Given the description of an element on the screen output the (x, y) to click on. 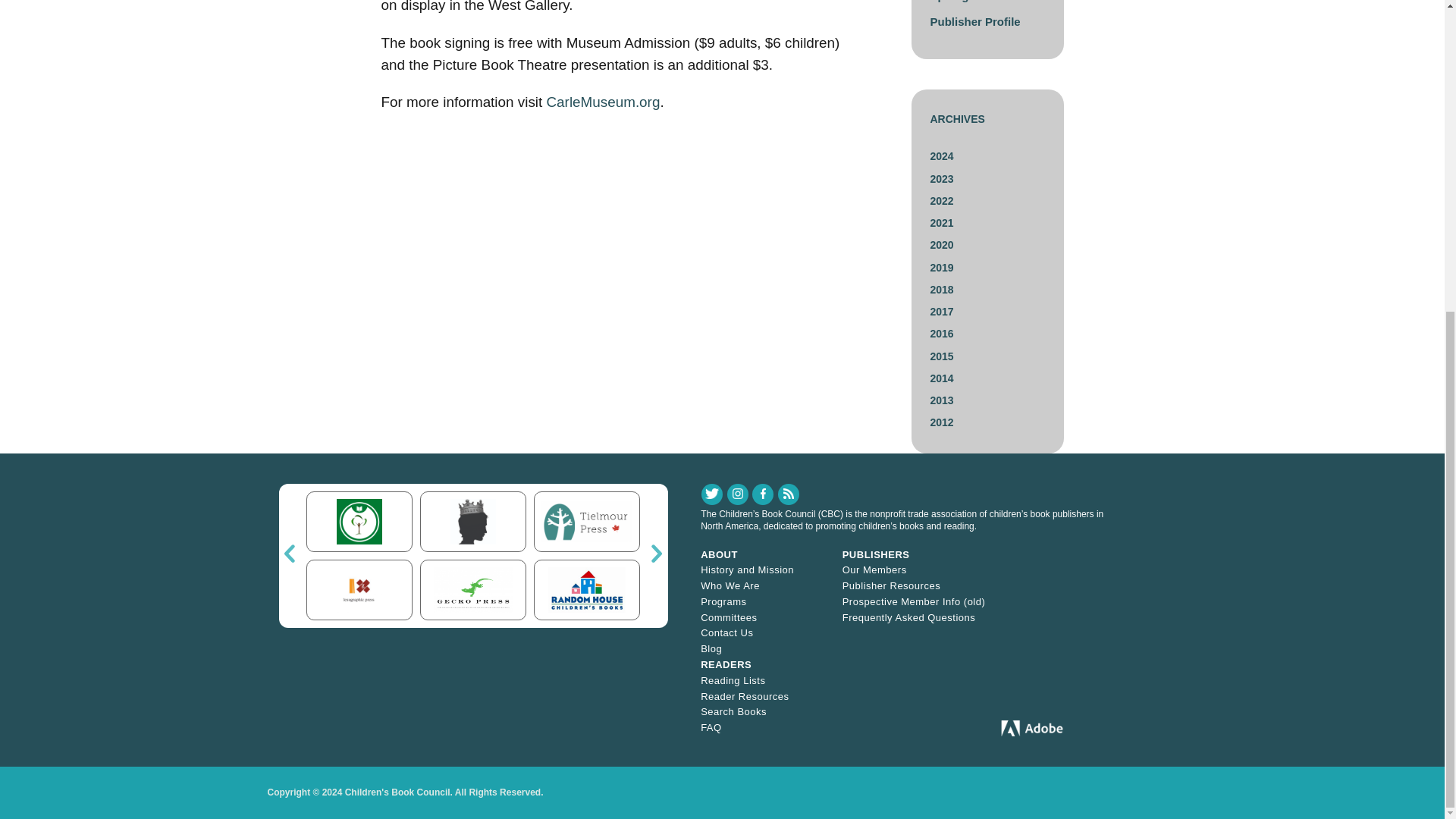
Publisher Profile (975, 21)
Hot Off the Press Spotlight (976, 1)
CarleMuseum.org (602, 101)
2024 (941, 155)
